Given the description of an element on the screen output the (x, y) to click on. 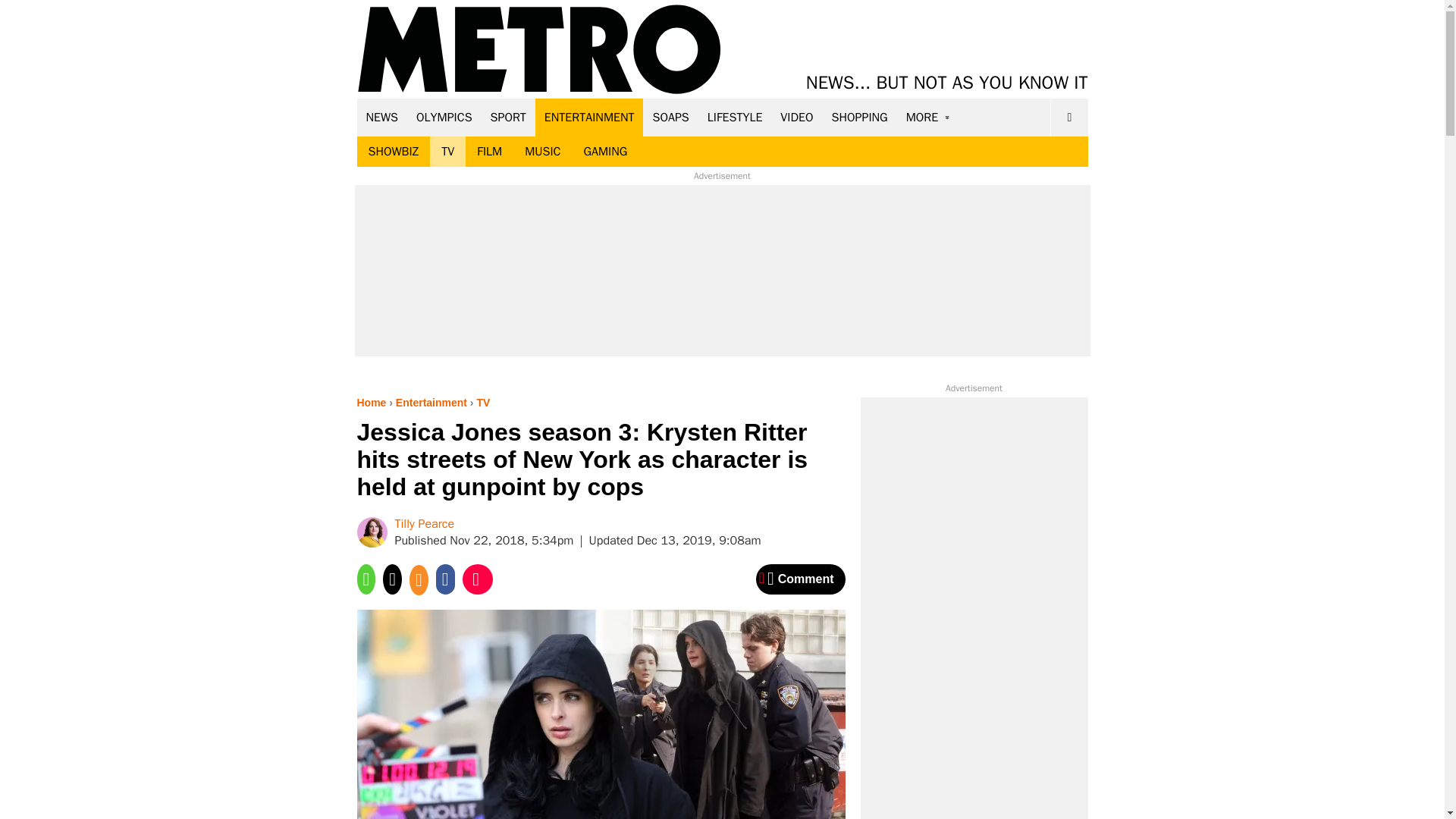
FILM (489, 151)
Metro (539, 50)
SOAPS (670, 117)
GAMING (605, 151)
SPORT (508, 117)
TV (447, 151)
SHOWBIZ (392, 151)
NEWS (381, 117)
ENTERTAINMENT (589, 117)
LIFESTYLE (734, 117)
MUSIC (542, 151)
OLYMPICS (444, 117)
